Given the description of an element on the screen output the (x, y) to click on. 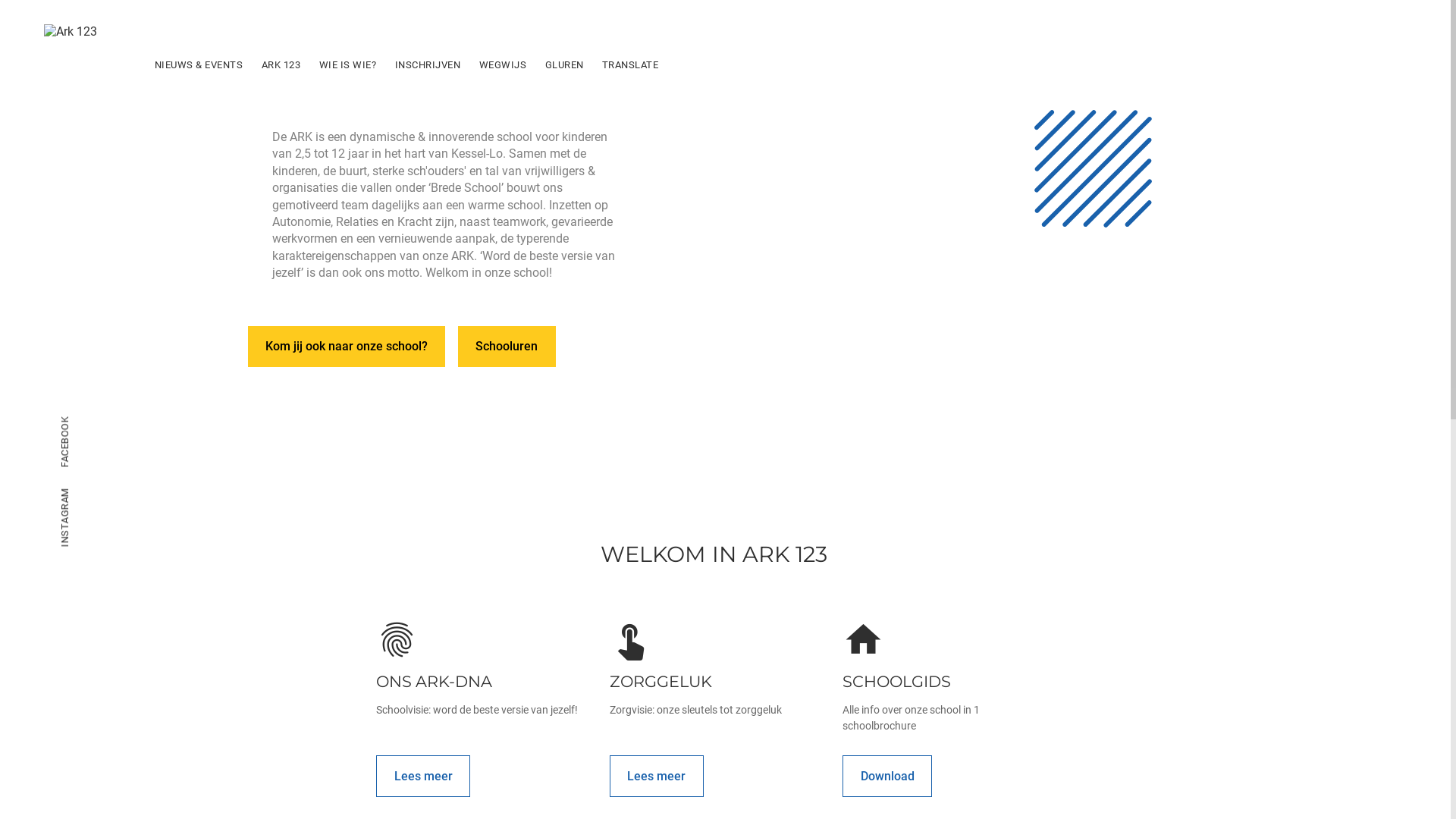
FACEBOOK Element type: text (64, 441)
INSTAGRAM Element type: text (64, 517)
GLUREN Element type: text (563, 64)
Lees meer Element type: text (423, 776)
Download Element type: text (886, 776)
NIEUWS & EVENTS Element type: text (198, 64)
TRANSLATE Element type: text (630, 64)
WEGWIJS Element type: text (502, 64)
Kom jij ook naar onze school? Element type: text (346, 346)
Lees meer Element type: text (656, 776)
INSCHRIJVEN Element type: text (427, 64)
Schooluren Element type: text (506, 346)
ARK 123 Element type: text (281, 64)
Ark 123 Element type: hover (70, 31)
WIE IS WIE? Element type: text (347, 64)
